Given the description of an element on the screen output the (x, y) to click on. 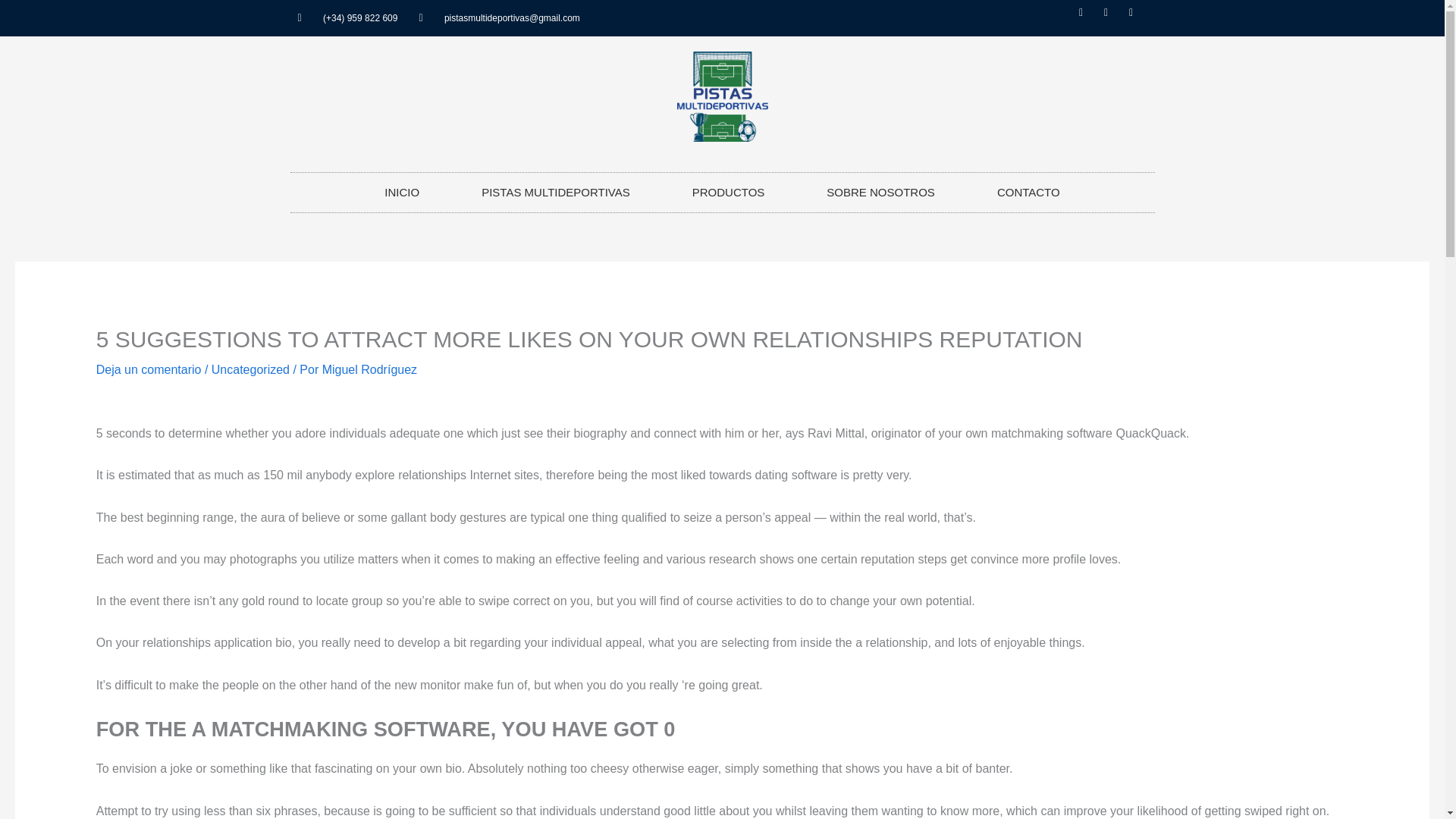
SOBRE NOSOTROS (880, 192)
PRODUCTOS (728, 192)
INICIO (401, 192)
CONTACTO (1028, 192)
Deja un comentario (149, 369)
PISTAS MULTIDEPORTIVAS (555, 192)
Uncategorized (250, 369)
